Given the description of an element on the screen output the (x, y) to click on. 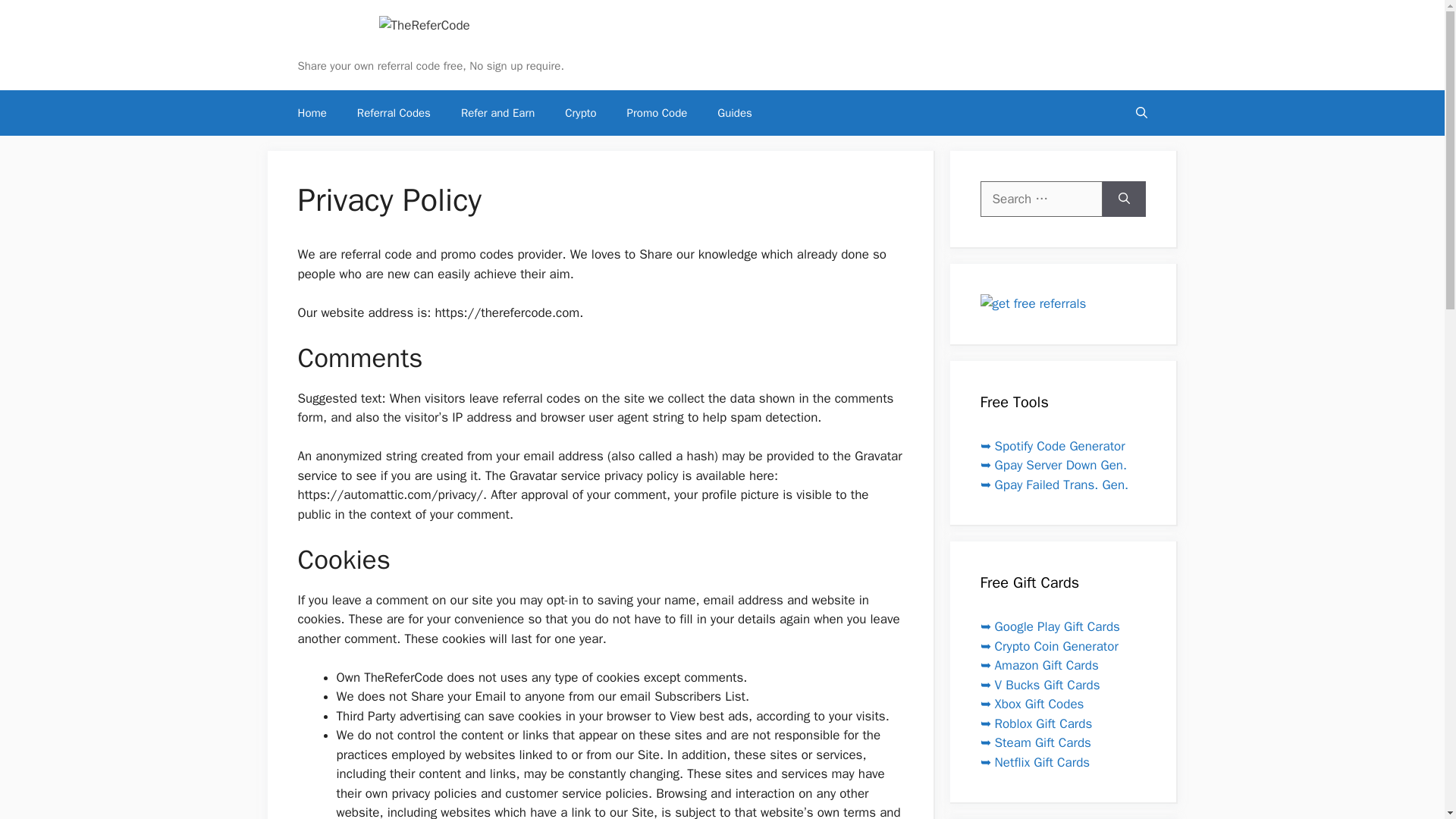
TheReferCode (355, 45)
TheReferCode (424, 25)
Refer and Earn (497, 112)
Promo Code (657, 112)
Guides (734, 112)
TheReferCode (424, 24)
Home (311, 112)
Crypto (580, 112)
Referral Codes (393, 112)
Search for: (1040, 198)
